Given the description of an element on the screen output the (x, y) to click on. 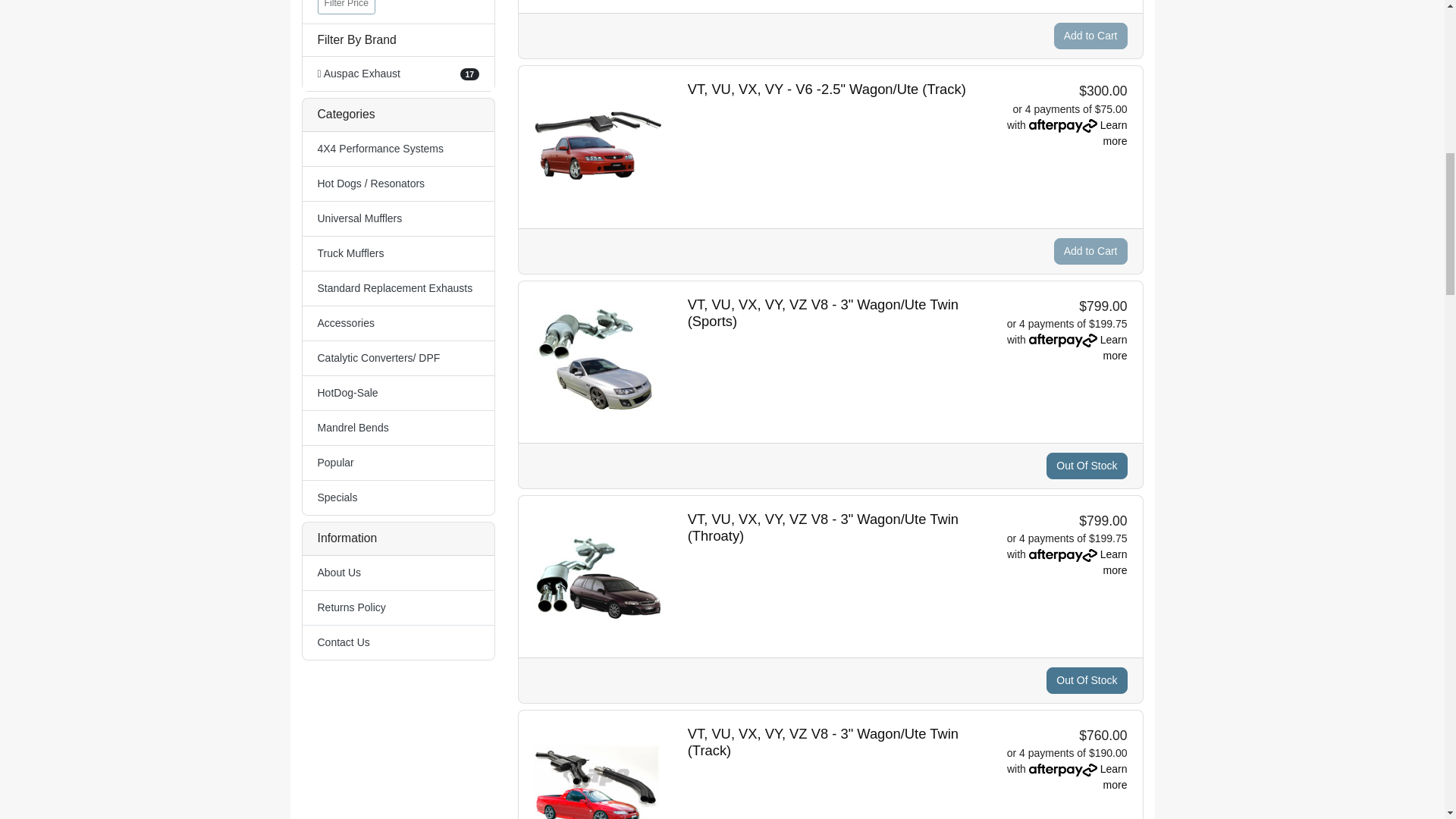
Notify Me When Back In Stock (1086, 680)
Add to Cart (1090, 35)
Add to Cart (1090, 251)
Notify Me When Back In Stock (1086, 465)
Filter Price (345, 6)
